Given the description of an element on the screen output the (x, y) to click on. 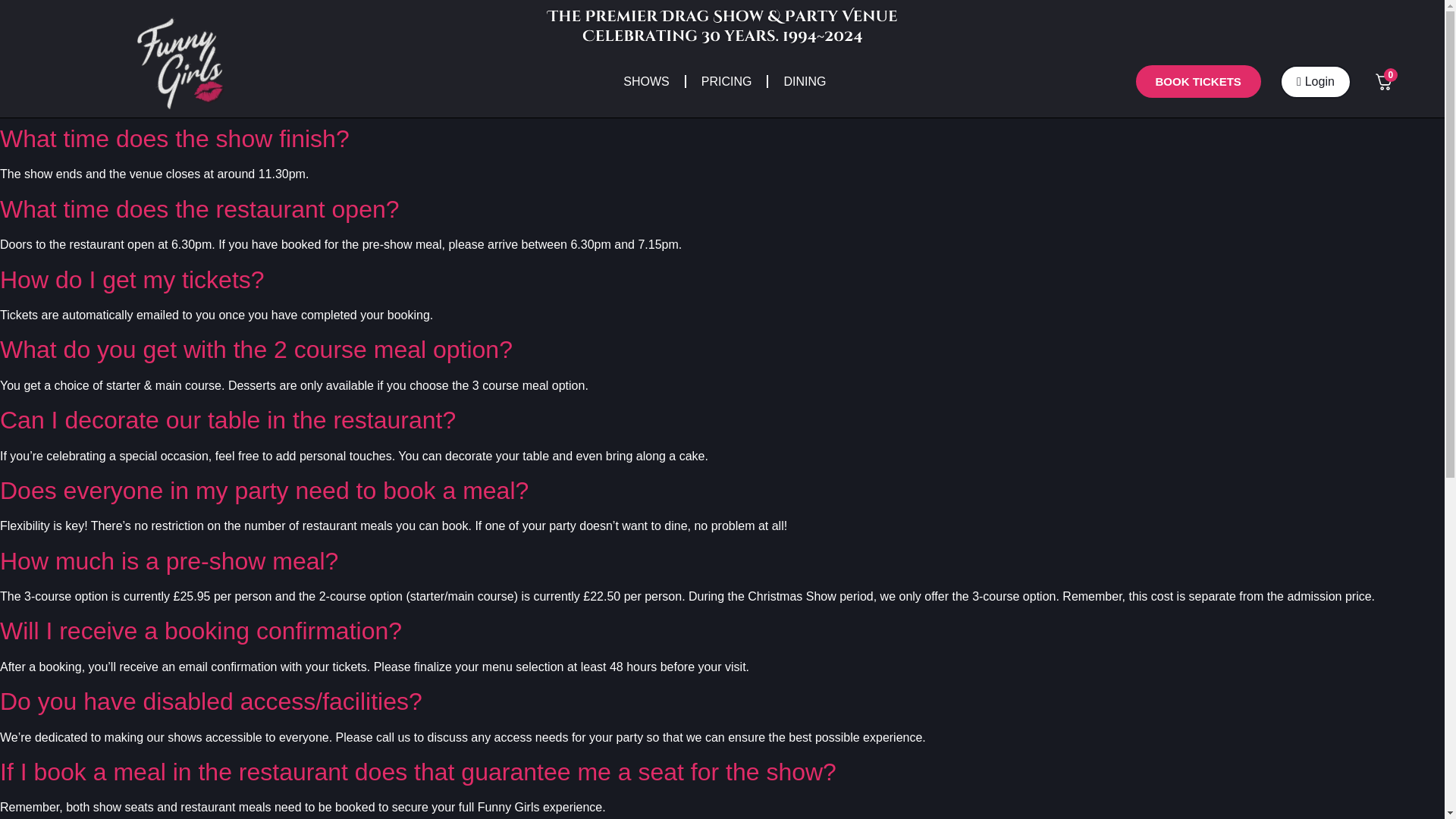
Will I receive a booking confirmation? (200, 630)
Can I decorate our table in the restaurant? (227, 420)
Login (1315, 81)
What time does the show finish? (174, 138)
How do I get my tickets? (132, 279)
BOOK TICKETS (1197, 81)
Does everyone in my party need to book a meal? (264, 490)
What do you get with the 2 course meal option? (256, 349)
PRICING (726, 80)
How much is a pre-show meal? (168, 560)
What time does the restaurant open? (199, 208)
SHOWS (646, 80)
DINING (804, 80)
